Given the description of an element on the screen output the (x, y) to click on. 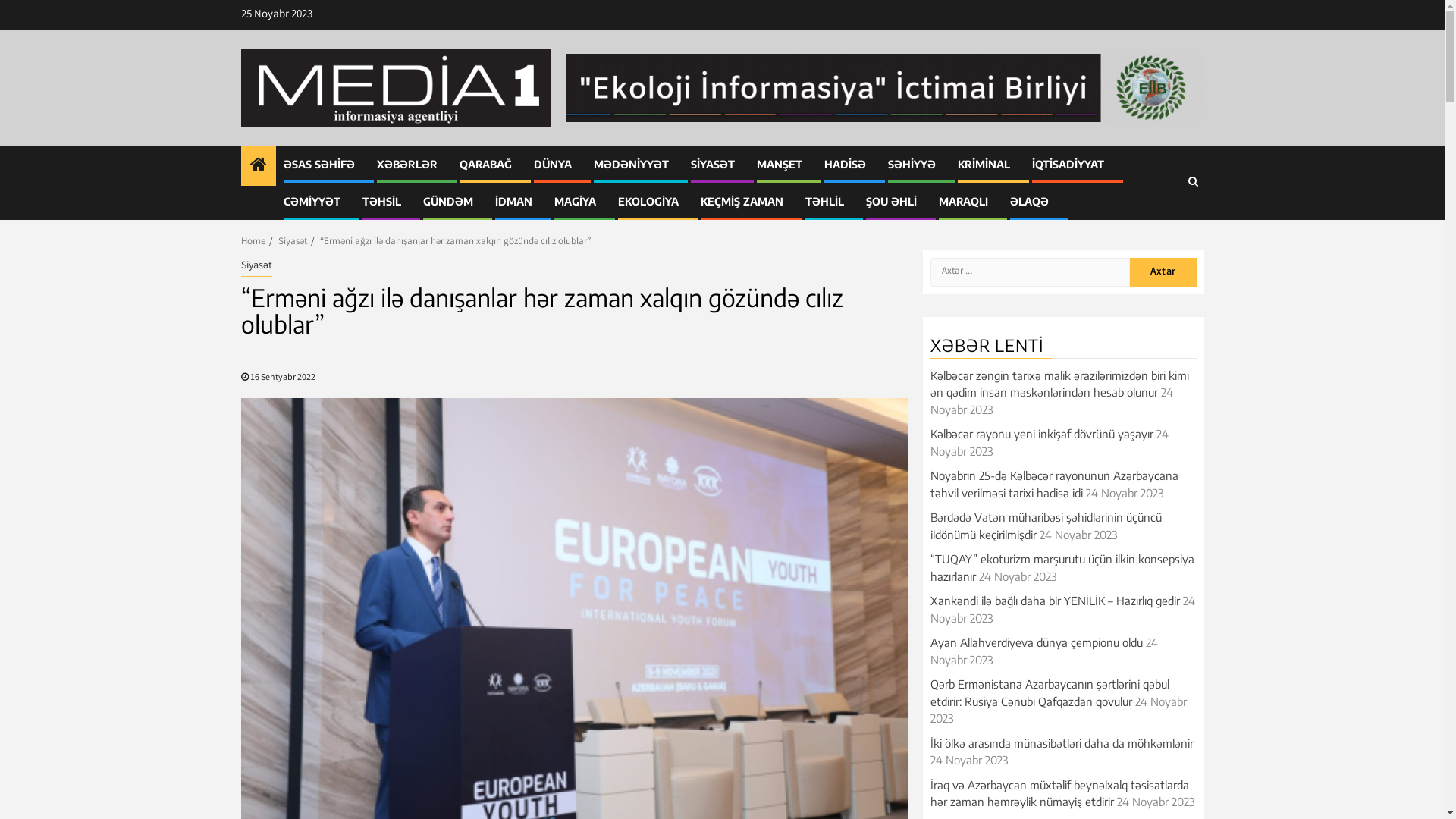
EKOLOGIYA Element type: text (647, 200)
Home Element type: text (253, 242)
Axtar Element type: text (1163, 228)
Axtar Element type: text (1162, 271)
Search Element type: hover (1192, 182)
MAGIYA Element type: text (574, 200)
MARAQLI Element type: text (963, 200)
KRIMINAL Element type: text (983, 163)
